Given the description of an element on the screen output the (x, y) to click on. 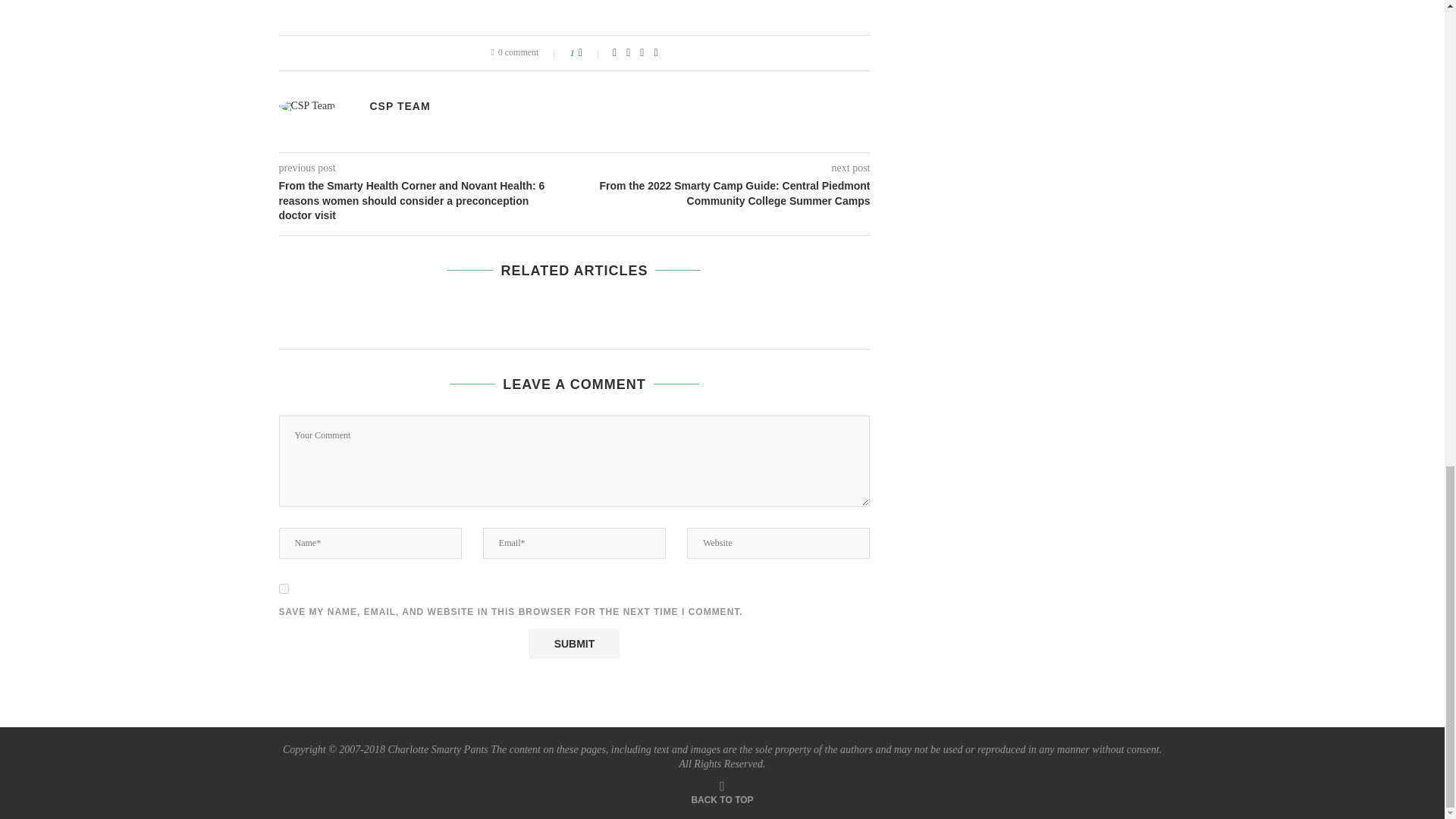
Submit (574, 643)
Like (590, 52)
yes (283, 588)
Posts by CSP Team (399, 105)
